Given the description of an element on the screen output the (x, y) to click on. 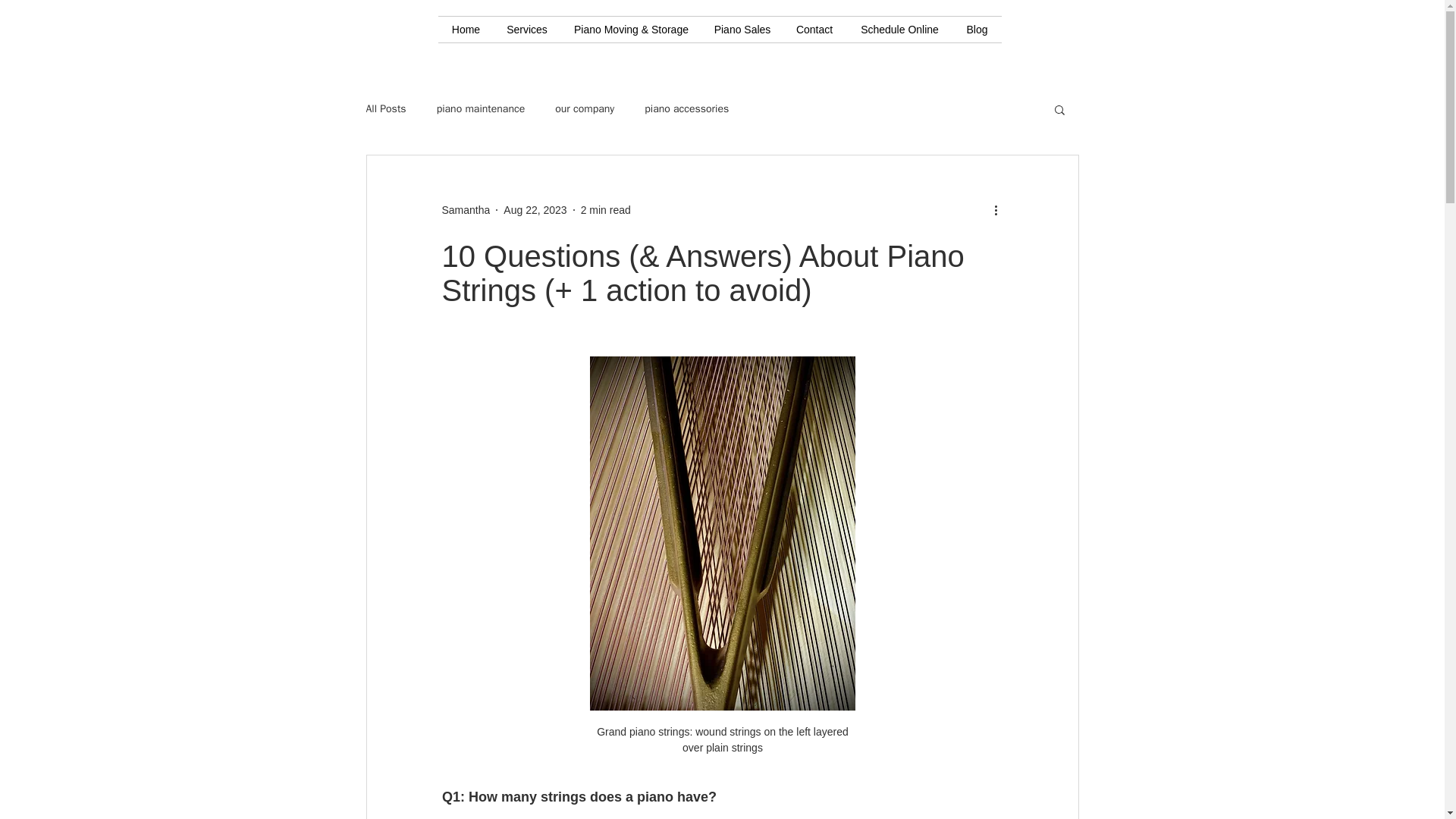
our company (584, 109)
Samantha (465, 209)
Schedule Online (898, 29)
Aug 22, 2023 (534, 209)
Blog (976, 29)
piano accessories (687, 109)
Services (527, 29)
All Posts (385, 109)
Samantha (465, 209)
Contact (815, 29)
Piano Sales (741, 29)
2 min read (605, 209)
piano maintenance (480, 109)
Home (466, 29)
